Given the description of an element on the screen output the (x, y) to click on. 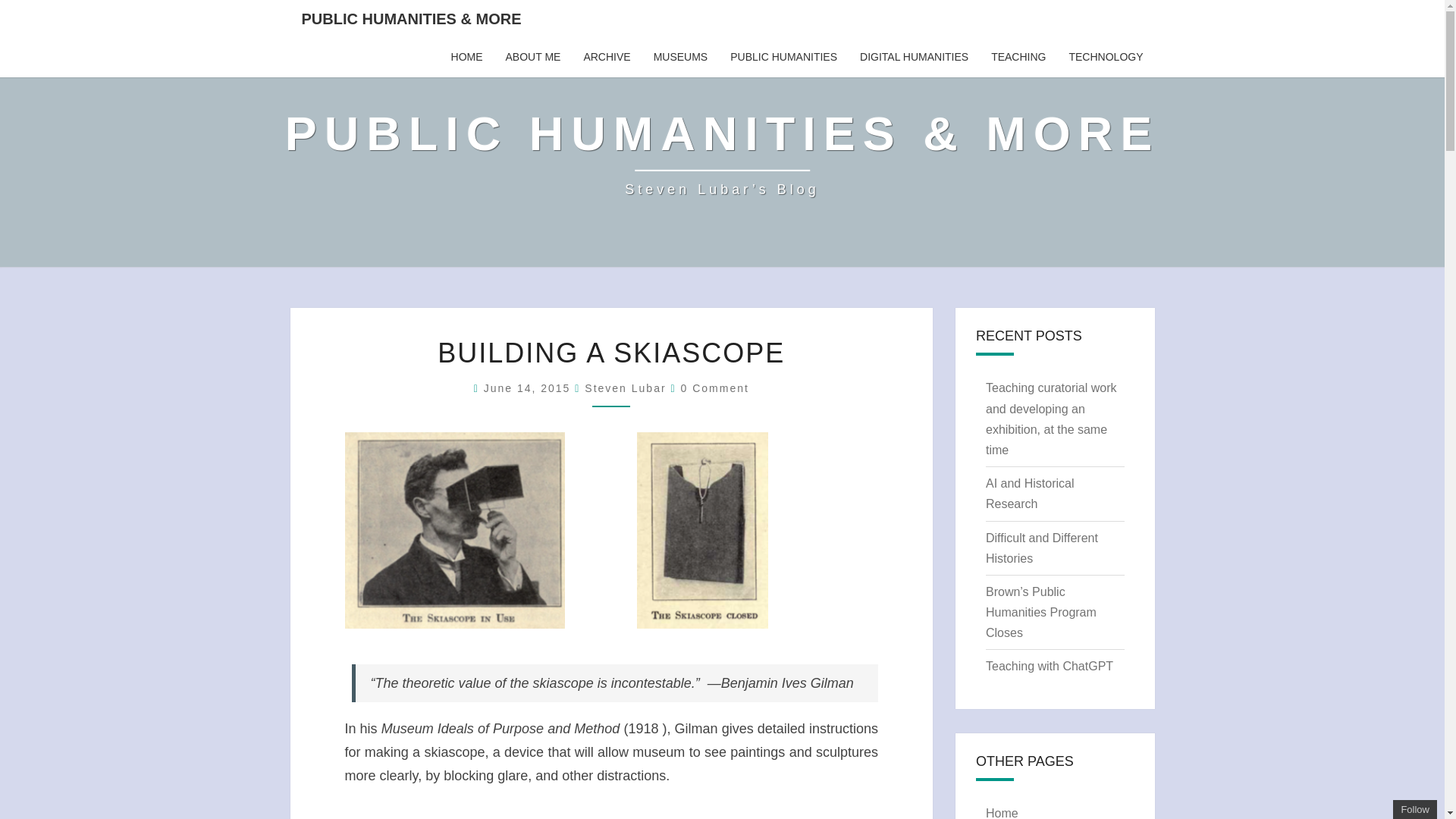
DIGITAL HUMANITIES (913, 56)
View all posts by Steven Lubar (625, 387)
TEACHING (1018, 56)
June 14, 2015 (529, 387)
Steven Lubar (625, 387)
MUSEUMS (680, 56)
10:45 pm (529, 387)
ARCHIVE (607, 56)
PUBLIC HUMANITIES (783, 56)
TECHNOLOGY (1105, 56)
ABOUT ME (533, 56)
0 Comment (715, 387)
HOME (467, 56)
